Given the description of an element on the screen output the (x, y) to click on. 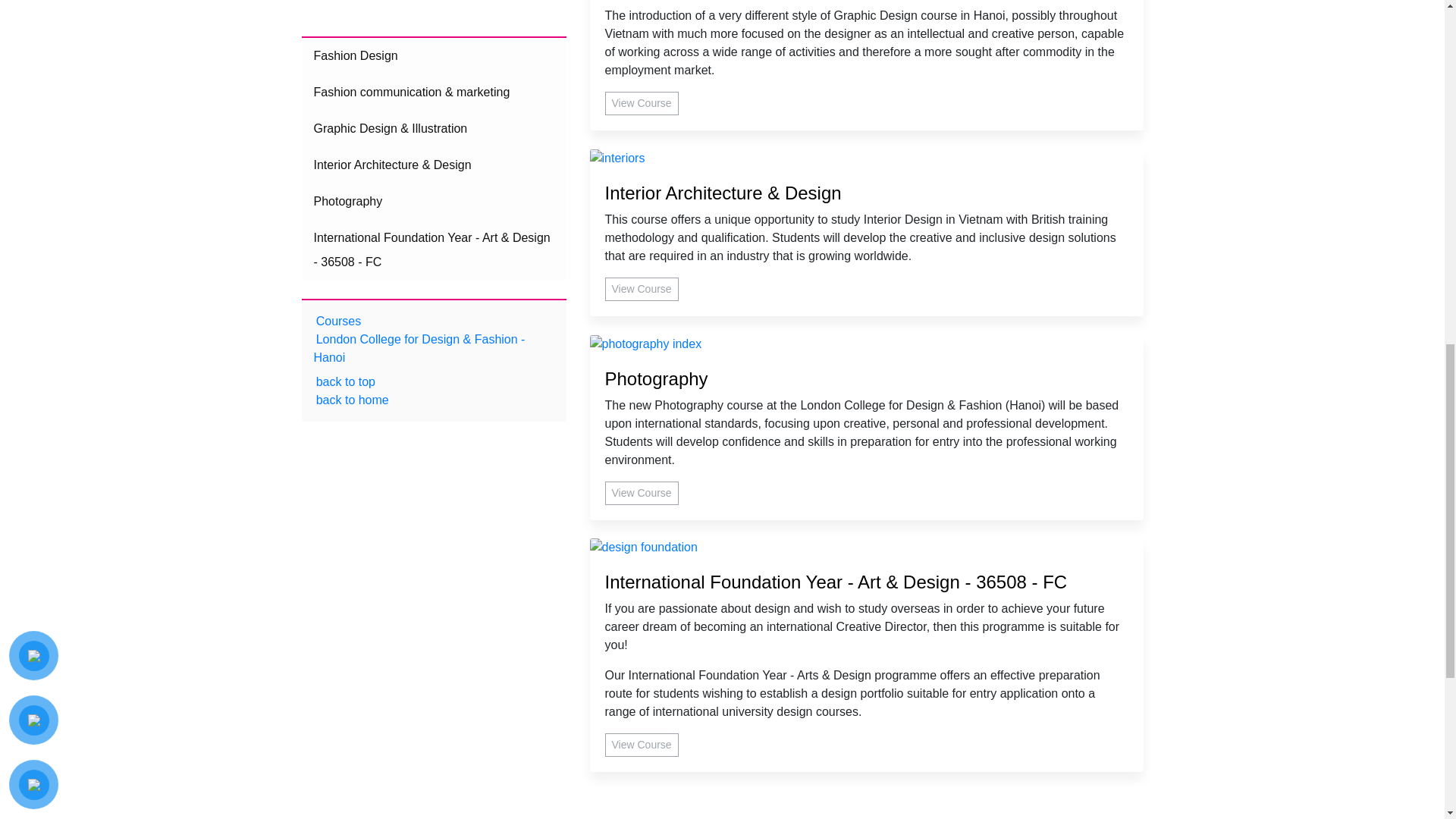
View Course (641, 493)
Photography (866, 379)
View Course (641, 103)
View Course (641, 289)
